Given the description of an element on the screen output the (x, y) to click on. 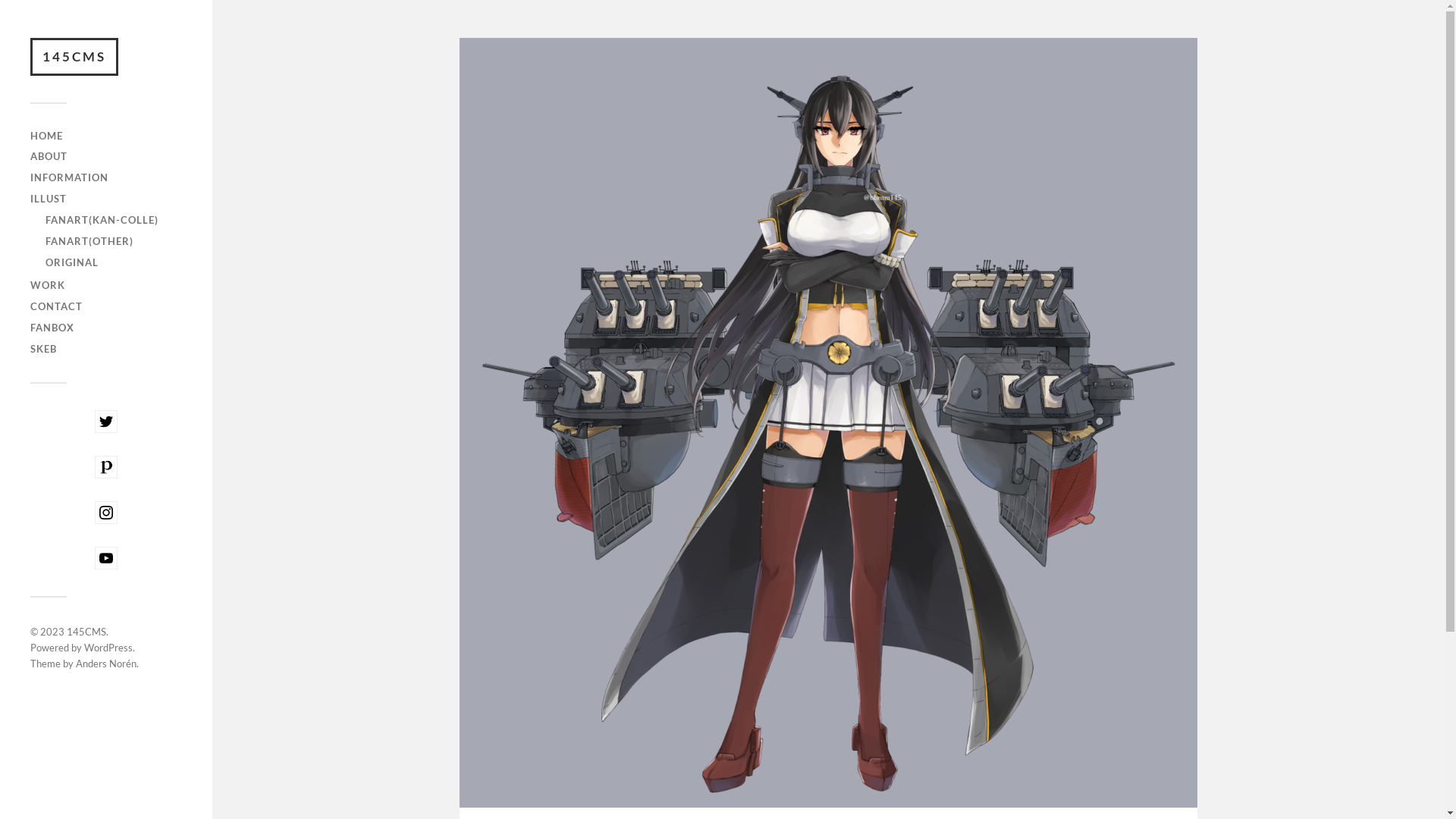
WORK Element type: text (47, 285)
FANBOX Element type: text (52, 327)
145CMS Element type: text (74, 56)
ORIGINAL Element type: text (71, 262)
INFORMATION Element type: text (69, 177)
ABOUT Element type: text (48, 156)
FANART(OTHER) Element type: text (89, 241)
HOME Element type: text (46, 134)
145CMS Element type: text (86, 631)
FANART(KAN-COLLE) Element type: text (101, 219)
WordPress Element type: text (108, 647)
SKEB Element type: text (43, 348)
CONTACT Element type: text (56, 306)
ILLUST Element type: text (48, 198)
